Given the description of an element on the screen output the (x, y) to click on. 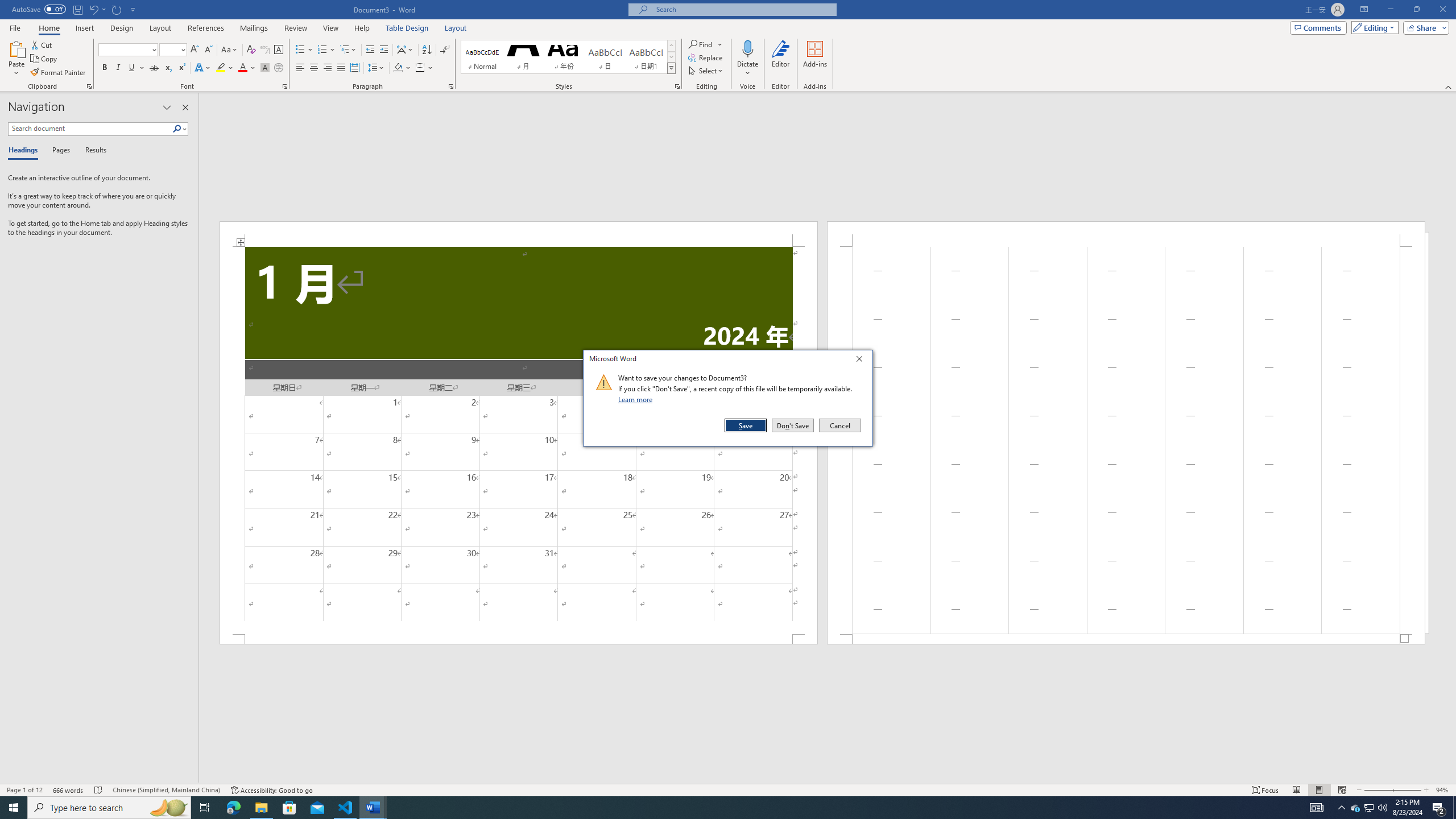
Search highlights icon opens search home window (167, 807)
Font Color (246, 67)
Strikethrough (154, 67)
Clear Formatting (250, 49)
Center (313, 67)
Text Highlight Color (224, 67)
Decrease Indent (370, 49)
Microsoft search (742, 9)
Page Number Page 1 of 12 (24, 790)
